Given the description of an element on the screen output the (x, y) to click on. 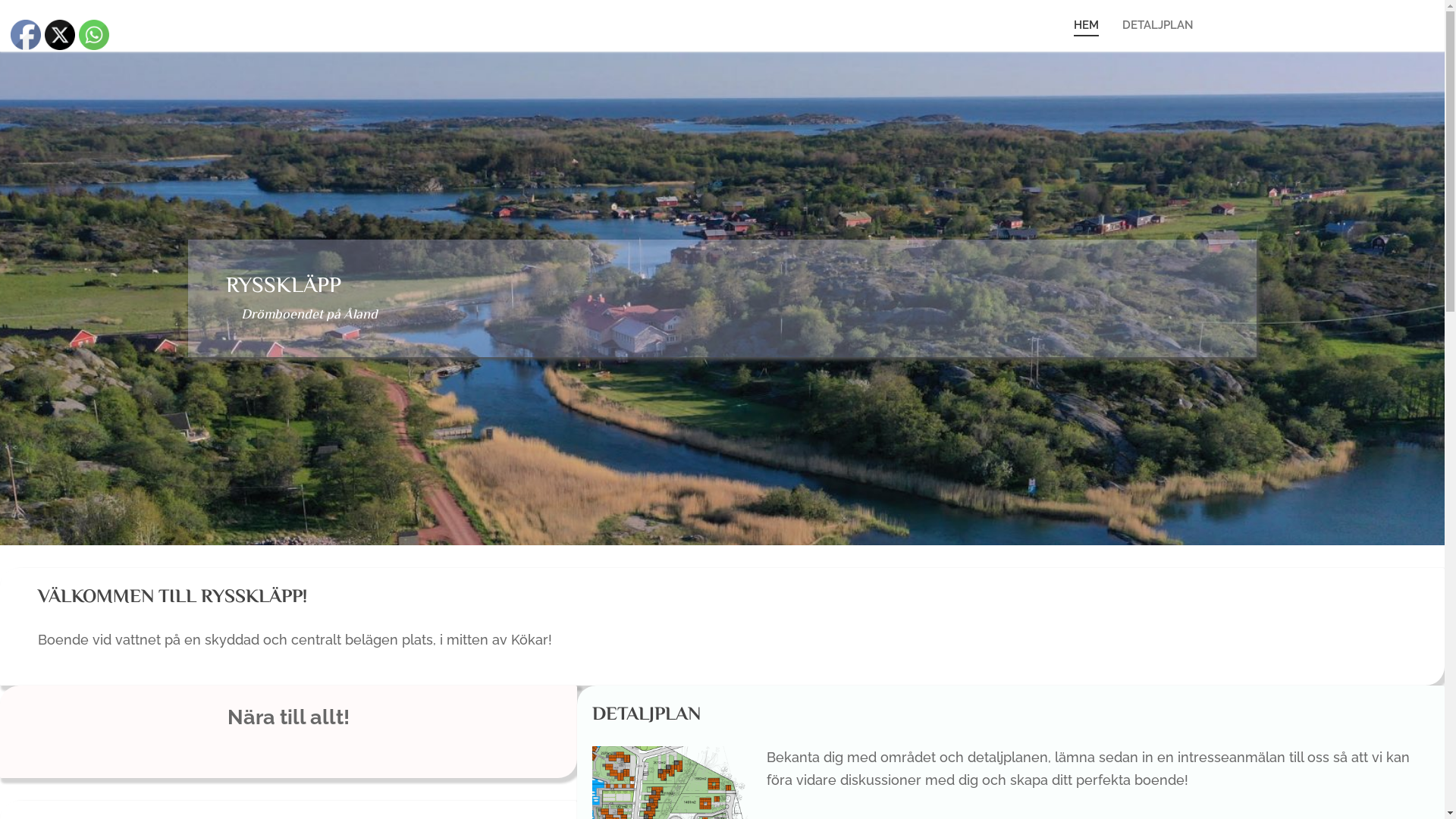
Facebook Element type: hover (25, 34)
HEM Element type: text (1085, 25)
WhatsApp Element type: hover (93, 34)
DETALJPLAN Element type: text (1156, 25)
Twitter Element type: hover (59, 34)
